Given the description of an element on the screen output the (x, y) to click on. 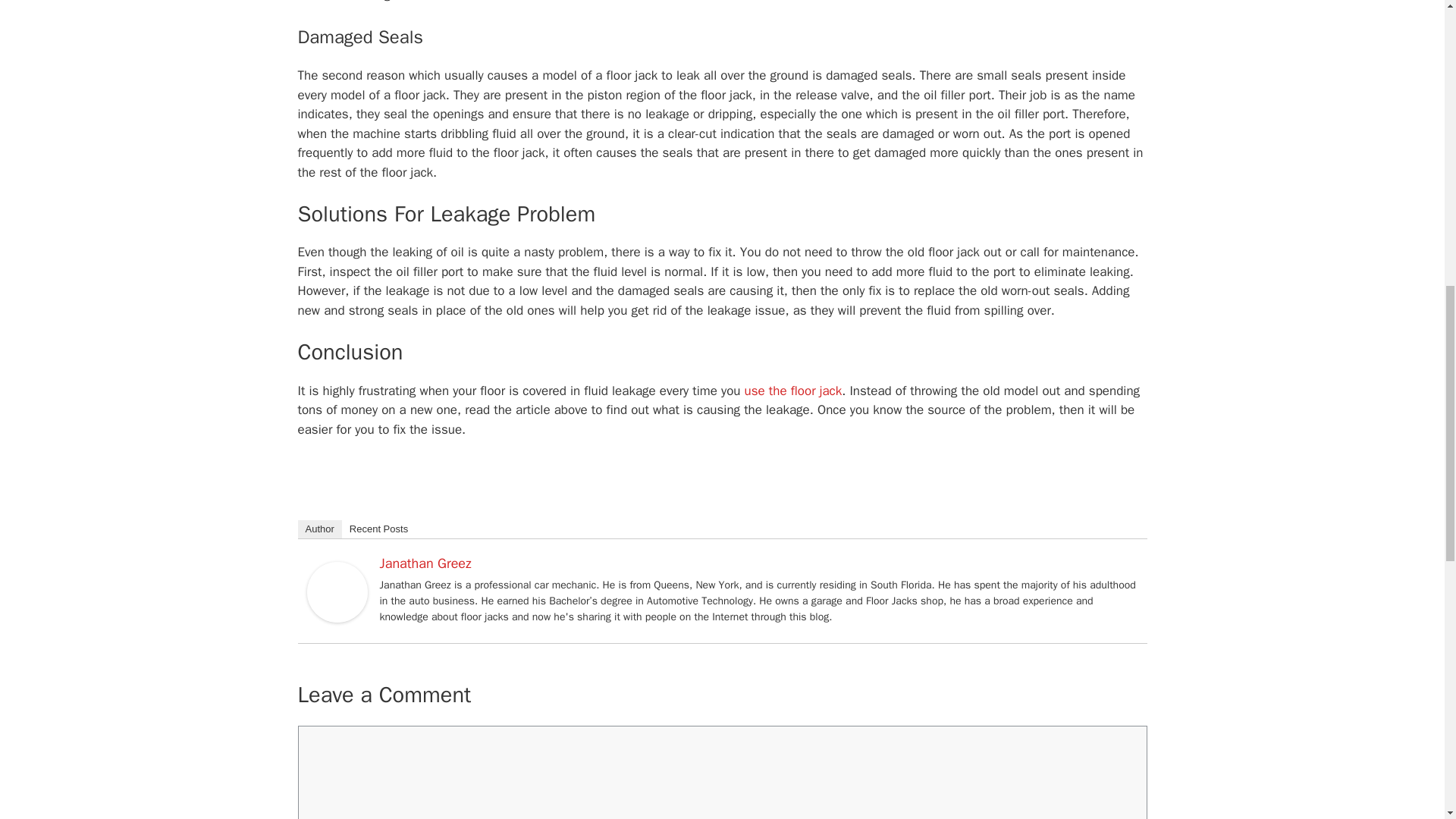
Janathan Greez (335, 618)
Recent Posts (378, 529)
Author (318, 529)
Janathan Greez (424, 563)
use the floor jack (793, 390)
